Given the description of an element on the screen output the (x, y) to click on. 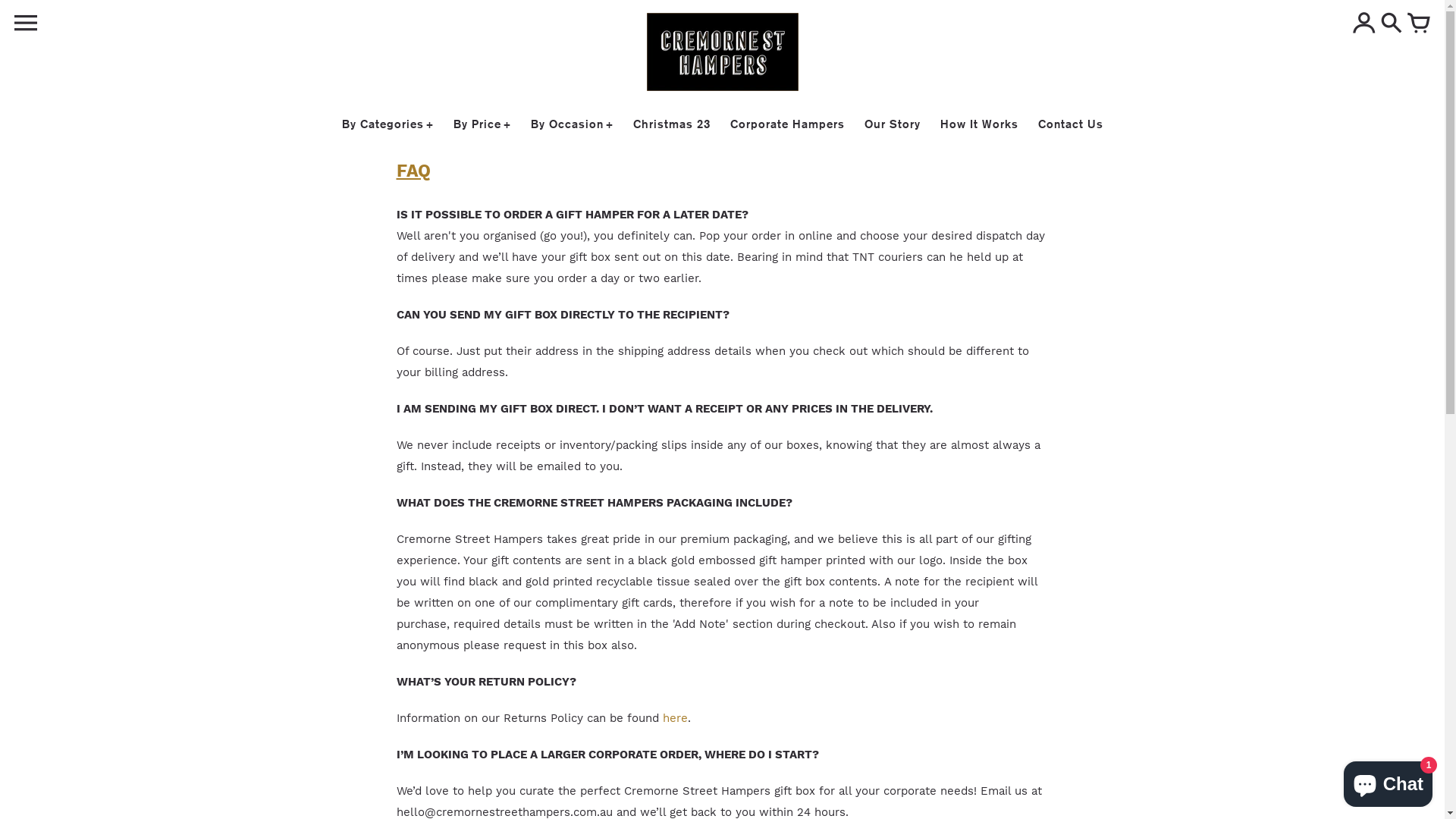
Our Story Element type: text (892, 123)
Shopify online store chat Element type: hover (1388, 780)
By Categories Element type: text (386, 123)
How It Works Element type: text (979, 123)
here Element type: text (674, 717)
Corporate Hampers Element type: text (786, 123)
Contact Us Element type: text (1069, 123)
By Occasion Element type: text (572, 123)
Christmas 23 Element type: text (670, 123)
By Price Element type: text (481, 123)
